Given the description of an element on the screen output the (x, y) to click on. 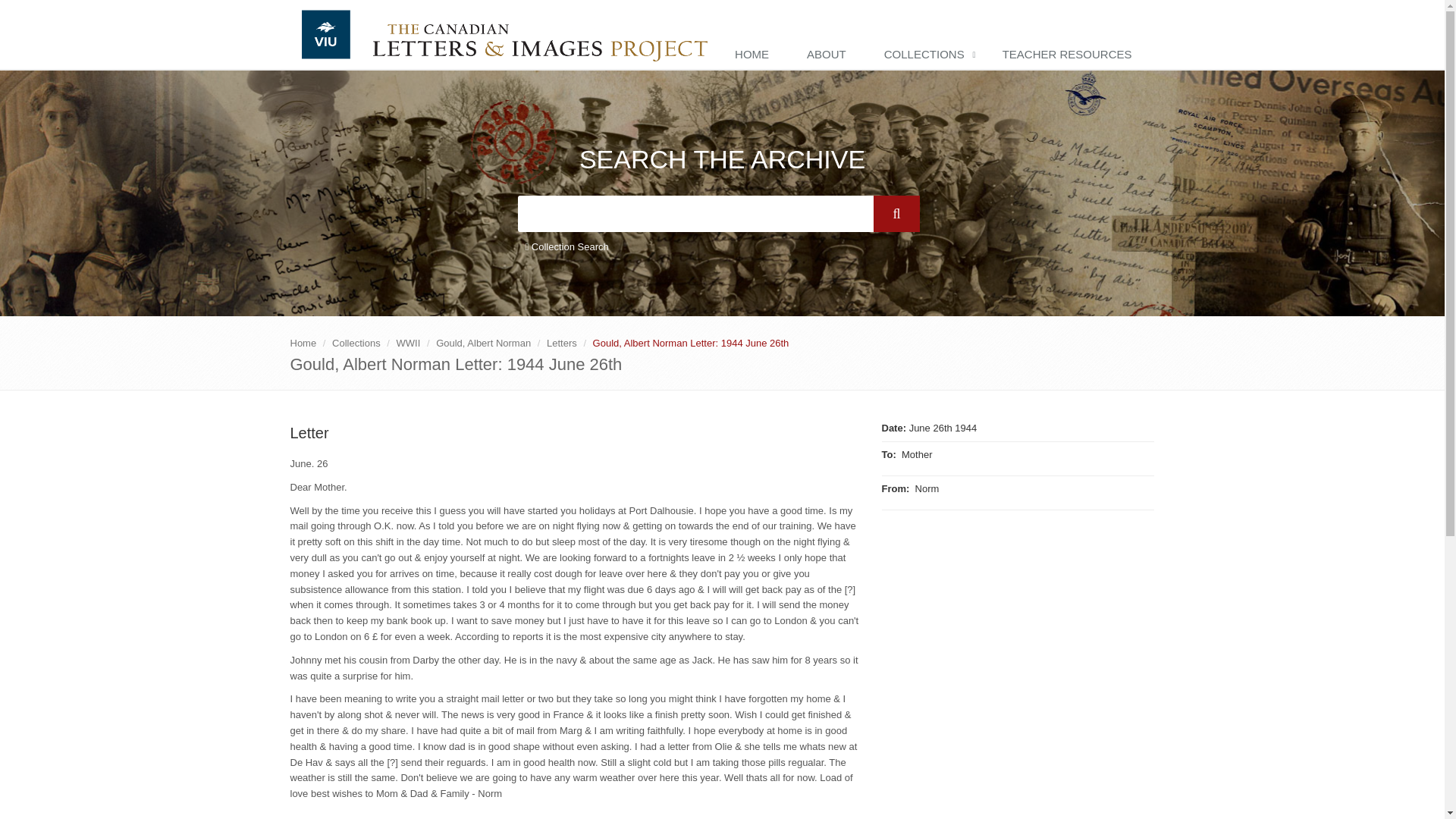
Gould, Albert Norman (483, 342)
TEACHER RESOURCES (1070, 55)
Home (302, 342)
Enter the terms you wish to search for. (694, 213)
ABOUT (830, 55)
HOME (755, 55)
Collections (355, 342)
Collection Search (566, 247)
Letters (561, 342)
